Given the description of an element on the screen output the (x, y) to click on. 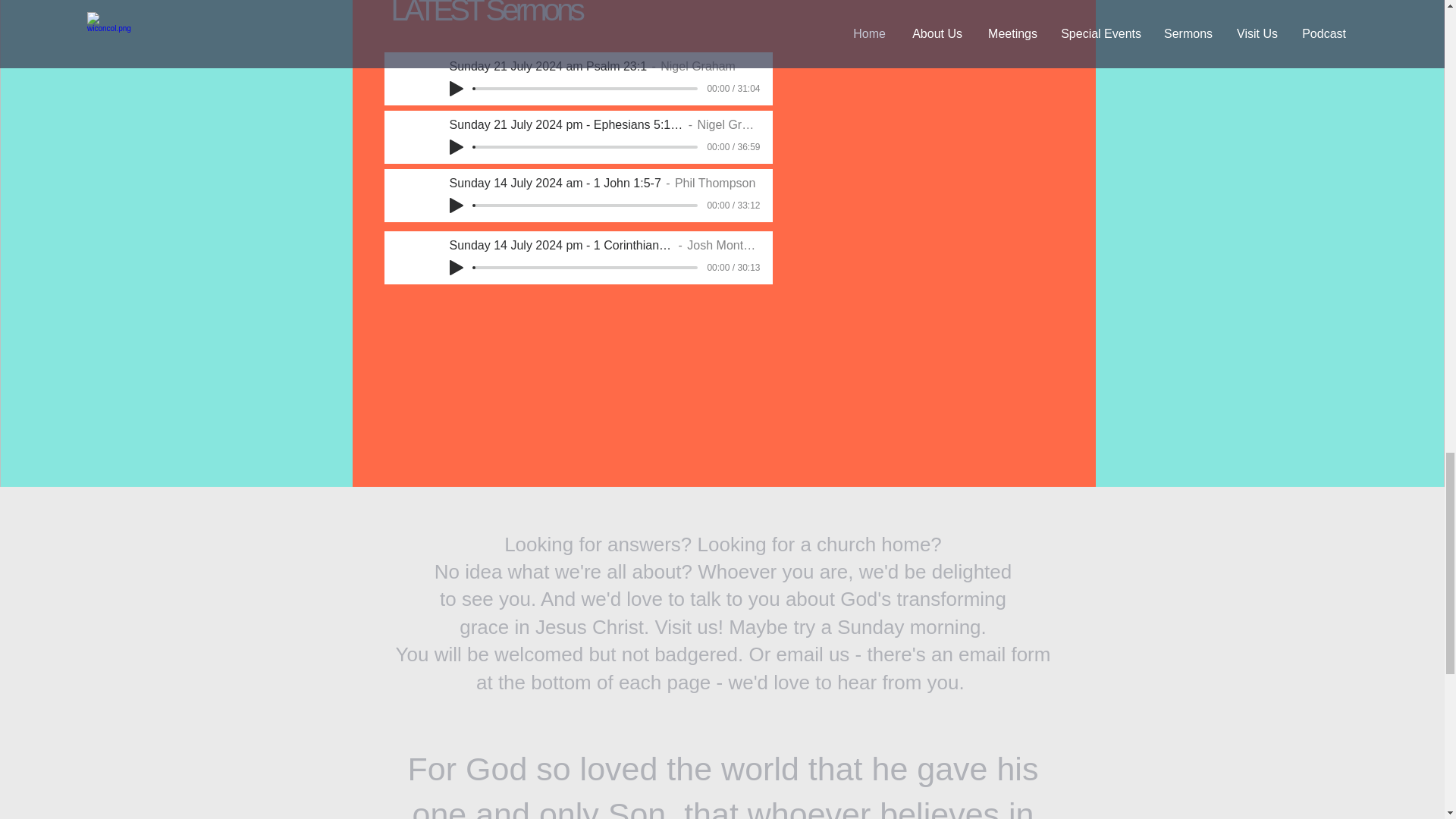
0 (585, 88)
0 (585, 205)
0 (585, 267)
0 (585, 146)
